Given the description of an element on the screen output the (x, y) to click on. 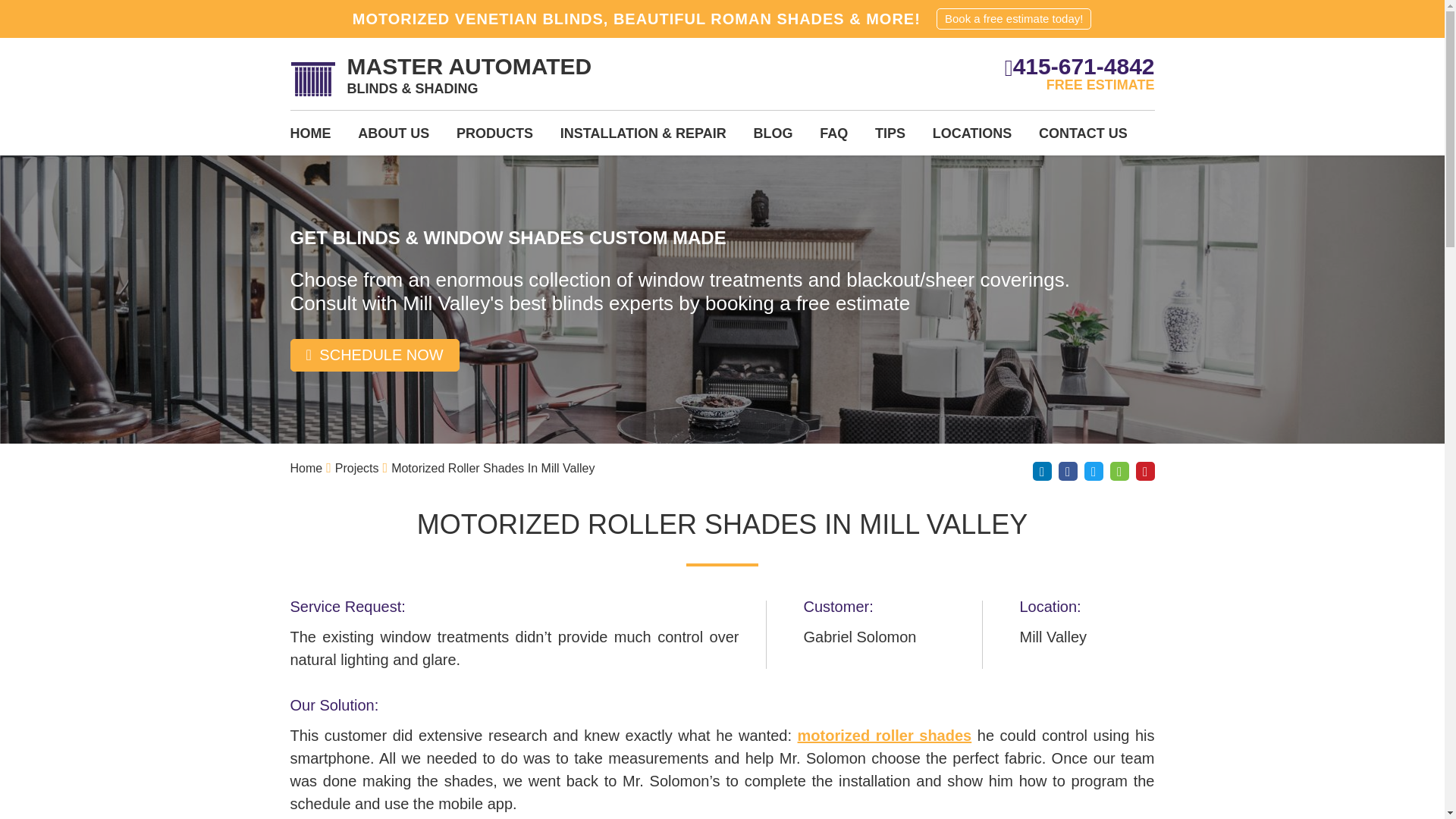
Houzz (1119, 470)
TIPS (890, 138)
Book a free estimate today! (1013, 18)
LOCATIONS (972, 138)
Motorized roller shades (884, 735)
Linkedin (1041, 470)
Twitter (1093, 470)
ABOUT US (393, 138)
PRODUCTS (494, 138)
Click here to enter Home page (305, 468)
Facebook (1067, 470)
BLOG (772, 138)
HOME (309, 138)
